Given the description of an element on the screen output the (x, y) to click on. 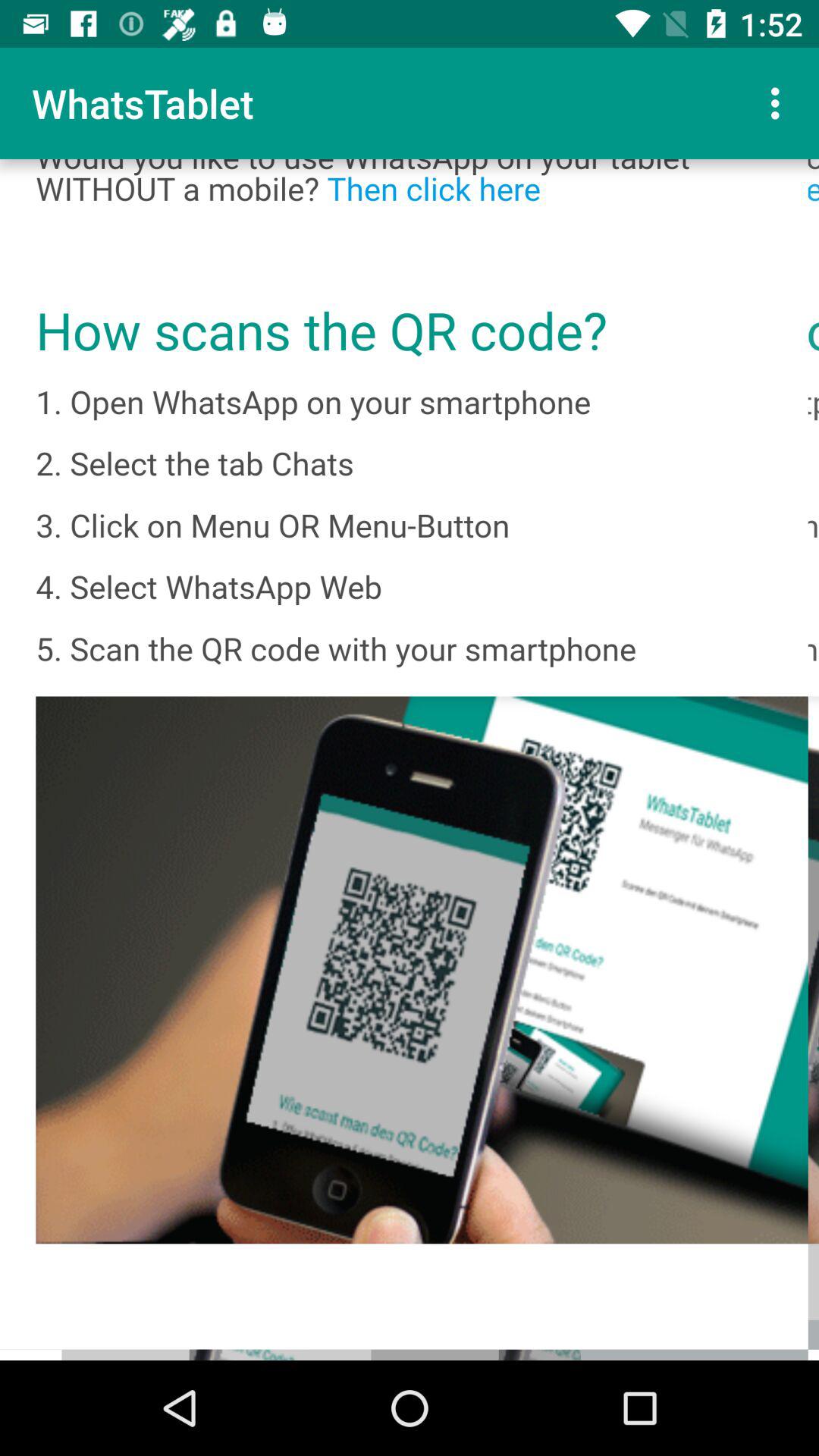
launch app to the right of whatstablet item (779, 103)
